Given the description of an element on the screen output the (x, y) to click on. 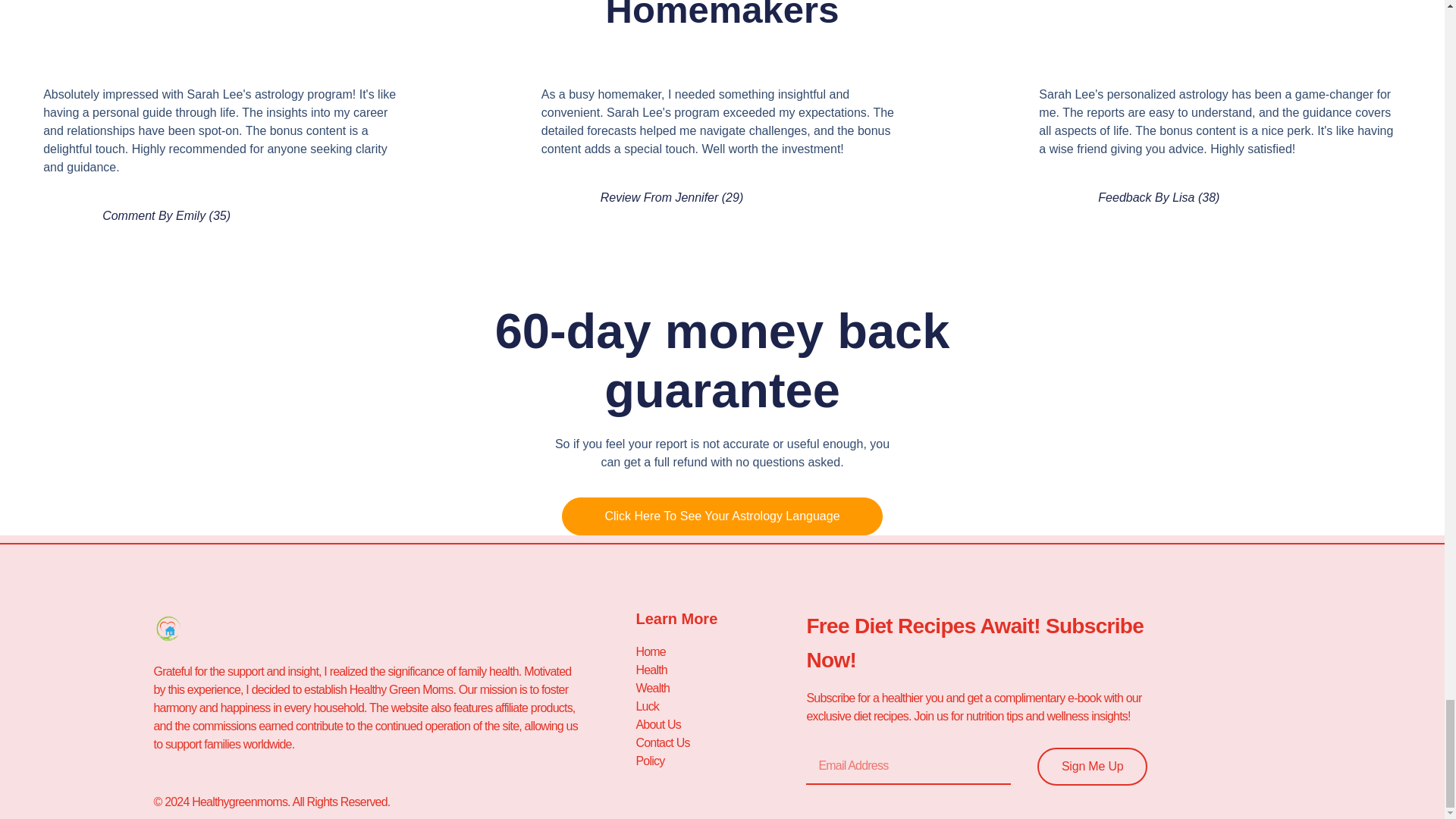
About Us (720, 724)
Contact Us (720, 742)
Wealth (720, 688)
Luck (720, 706)
Policy (720, 761)
Health (720, 669)
Click Here To See Your Astrology Language (722, 516)
Home (720, 651)
